Given the description of an element on the screen output the (x, y) to click on. 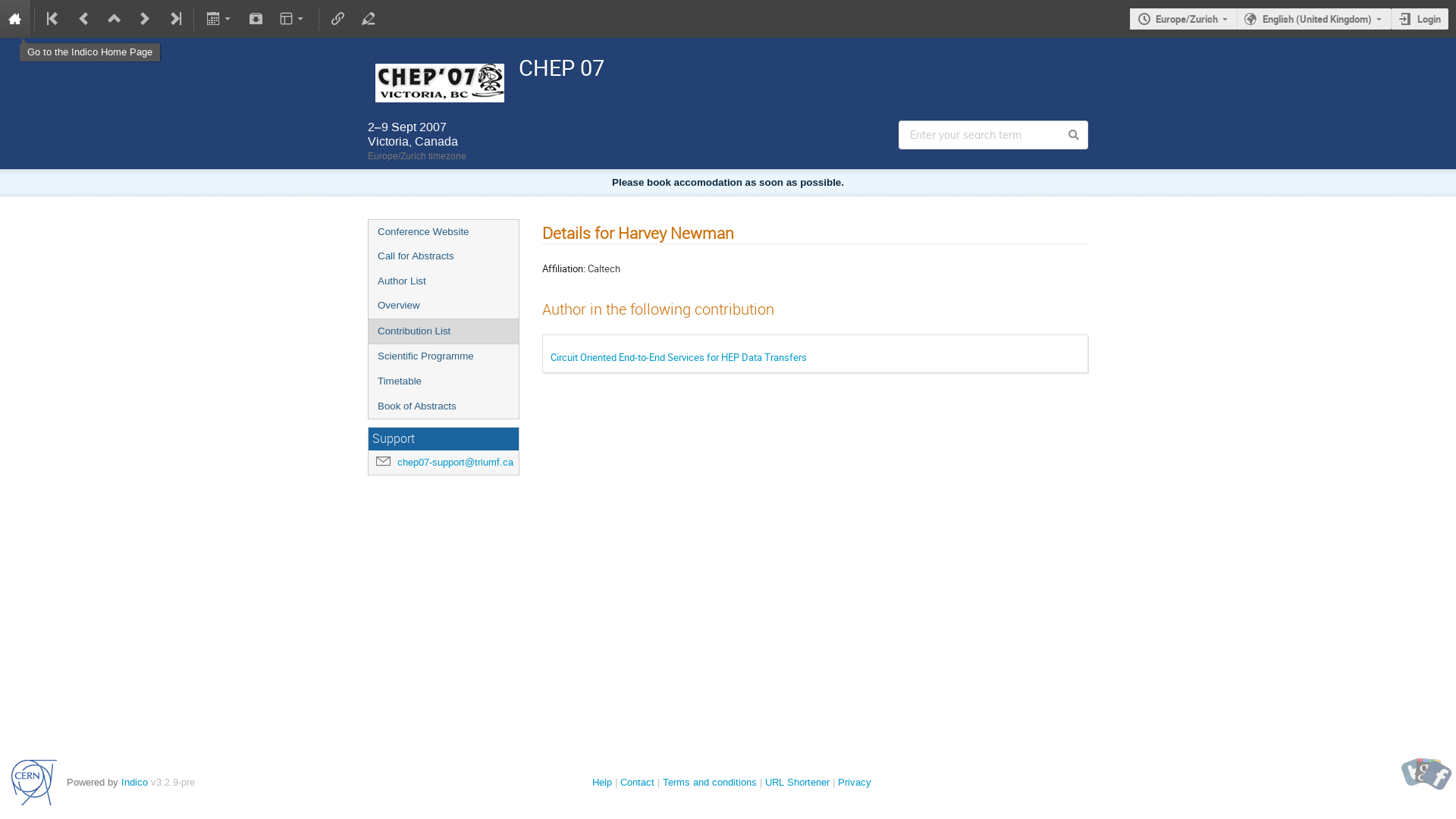
chep07-support@triumf.ca Element type: text (455, 461)
URL Shortener Element type: text (797, 781)
Timetable Element type: text (443, 381)
Help Element type: text (601, 781)
English (United Kingdom) Element type: text (1313, 19)
Change theme Element type: hover (292, 18)
Switch to the management area of this event Element type: hover (367, 18)
Login Element type: text (1419, 19)
Scientific Programme Element type: text (443, 356)
Export Element type: hover (219, 18)
Download material Element type: hover (256, 18)
Oldest event Element type: hover (53, 18)
Obtain short URL Element type: hover (338, 18)
Newest event Element type: hover (174, 18)
Indico Element type: text (134, 781)
Terms and conditions Element type: text (709, 781)
Contact Element type: text (637, 781)
Overview Element type: text (443, 305)
Call for Abstracts Element type: text (443, 256)
Europe/Zurich Element type: text (1182, 19)
Contribution List Element type: text (443, 331)
Book of Abstracts Element type: text (443, 406)
Circuit Oriented End-to-End Services for HEP Data Transfers Element type: text (678, 357)
Older event Element type: hover (84, 18)
CHEP 07 Element type: text (727, 67)
Author List Element type: text (443, 281)
Newer event Element type: hover (143, 18)
Conference Website Element type: text (443, 231)
Privacy Element type: text (854, 781)
Up to category Element type: hover (114, 18)
